Given the description of an element on the screen output the (x, y) to click on. 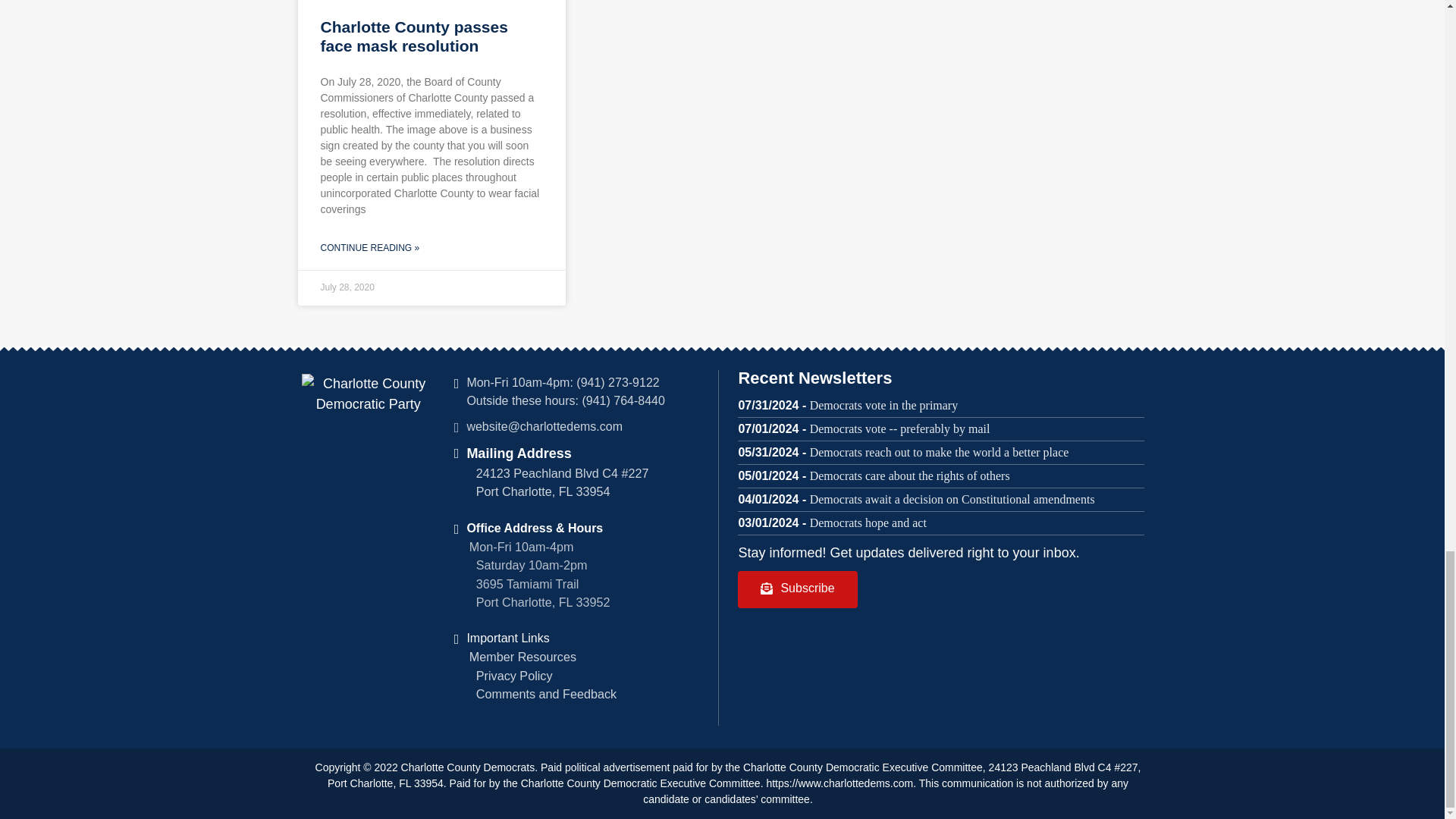
Democrats await a decision on Constitutional amendments (951, 499)
Democrats hope and act (867, 522)
Democrats vote -- preferably by mail (899, 428)
Democrats care about the rights of others (909, 475)
Democrats vote in the primary (883, 404)
Democrats reach out to make the world a better place (938, 451)
